Given the description of an element on the screen output the (x, y) to click on. 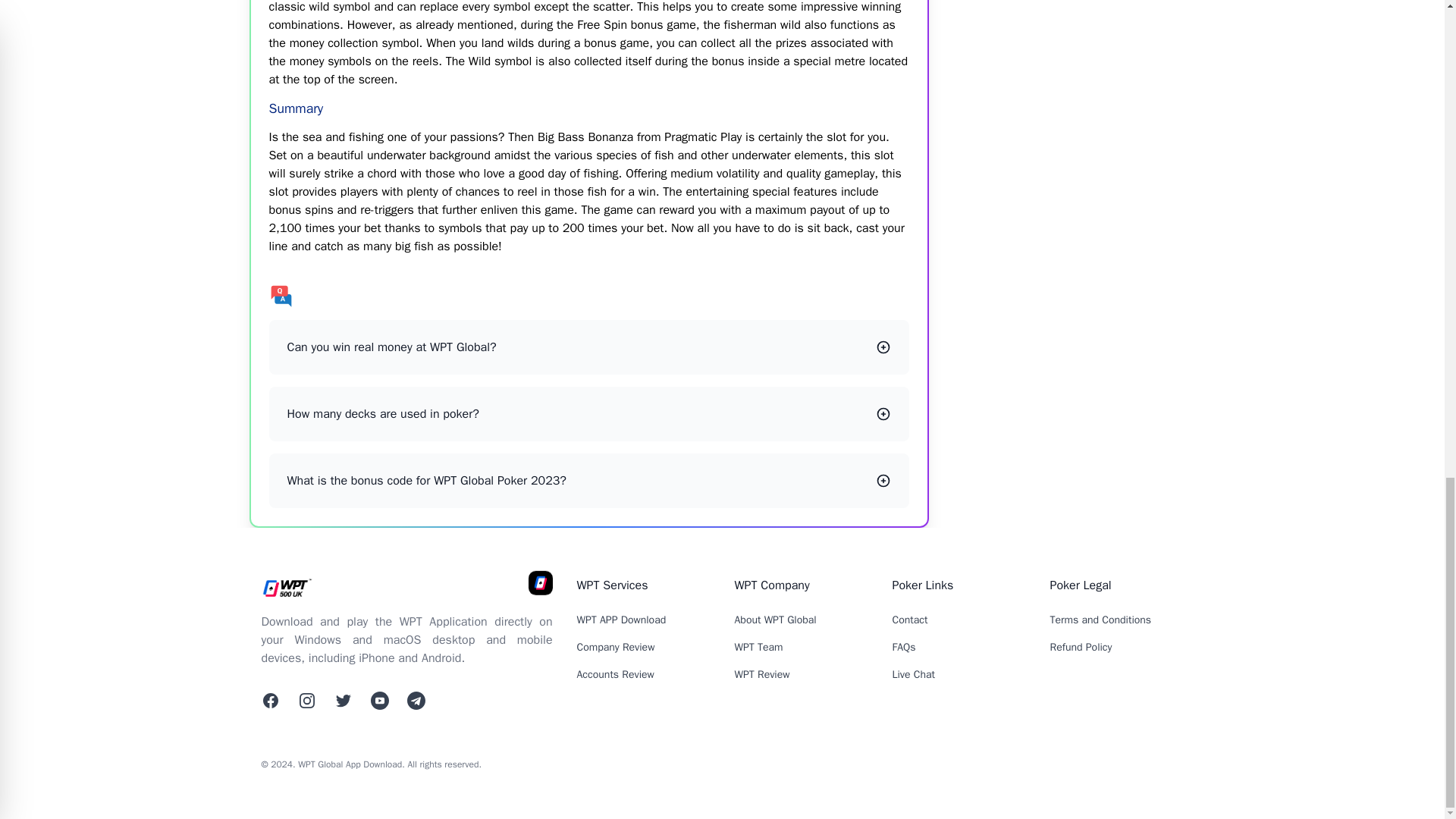
Twitter (342, 700)
Instagram (306, 700)
FAQs list (587, 295)
WPT APP Download (620, 619)
Facebook (269, 700)
Twitter (415, 700)
Twitter (378, 700)
